Given the description of an element on the screen output the (x, y) to click on. 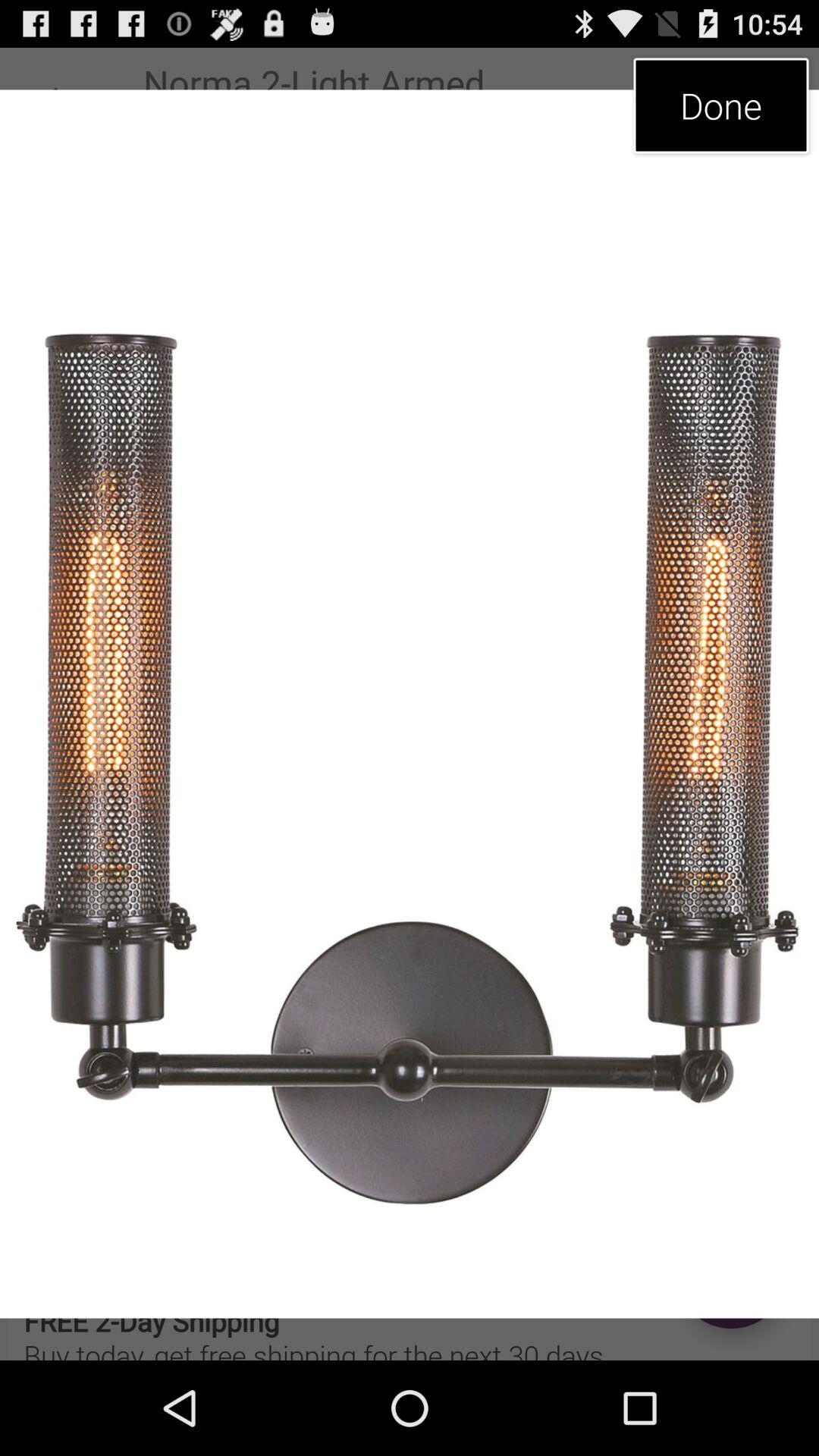
select item at the top right corner (720, 105)
